Given the description of an element on the screen output the (x, y) to click on. 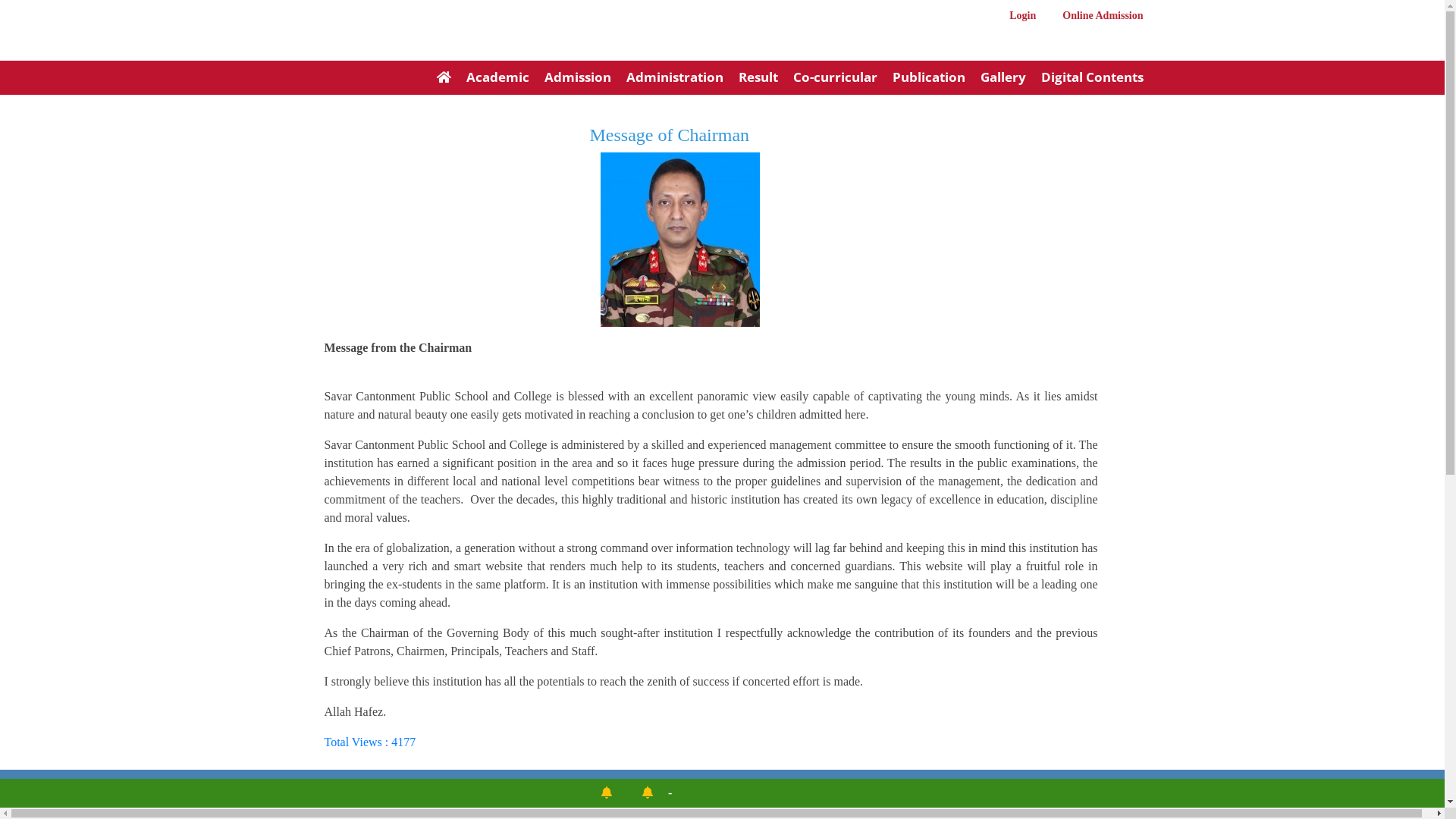
                 Element type: text (339, 47)
     Login  Element type: text (1017, 15)
Digital Contents Element type: text (1083, 79)
Publication Element type: text (920, 79)
Message of Chairman Element type: text (669, 134)
Co-curricular Element type: text (827, 79)
Gallery Element type: text (994, 79)
Admission Element type: text (570, 79)
Administration Element type: text (667, 79)
         Online Admission Element type: text (1090, 15)
Result Element type: text (750, 79)
Academic Element type: text (489, 79)
